Given the description of an element on the screen output the (x, y) to click on. 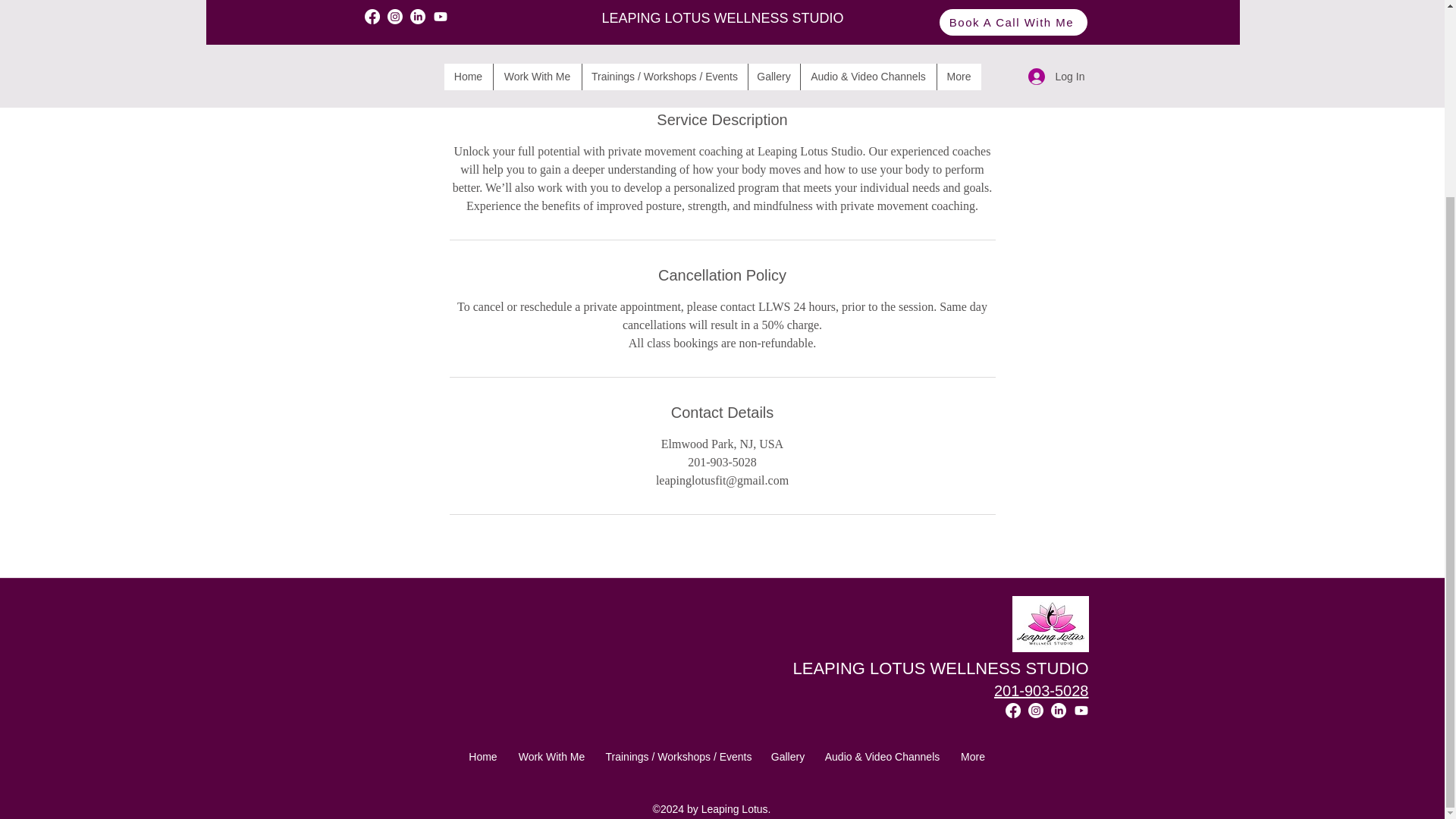
Home (482, 756)
Book Now (721, 44)
LEAPING LOTUS WELLNESS STUDIO (941, 668)
201-903-5028 (1041, 690)
